Given the description of an element on the screen output the (x, y) to click on. 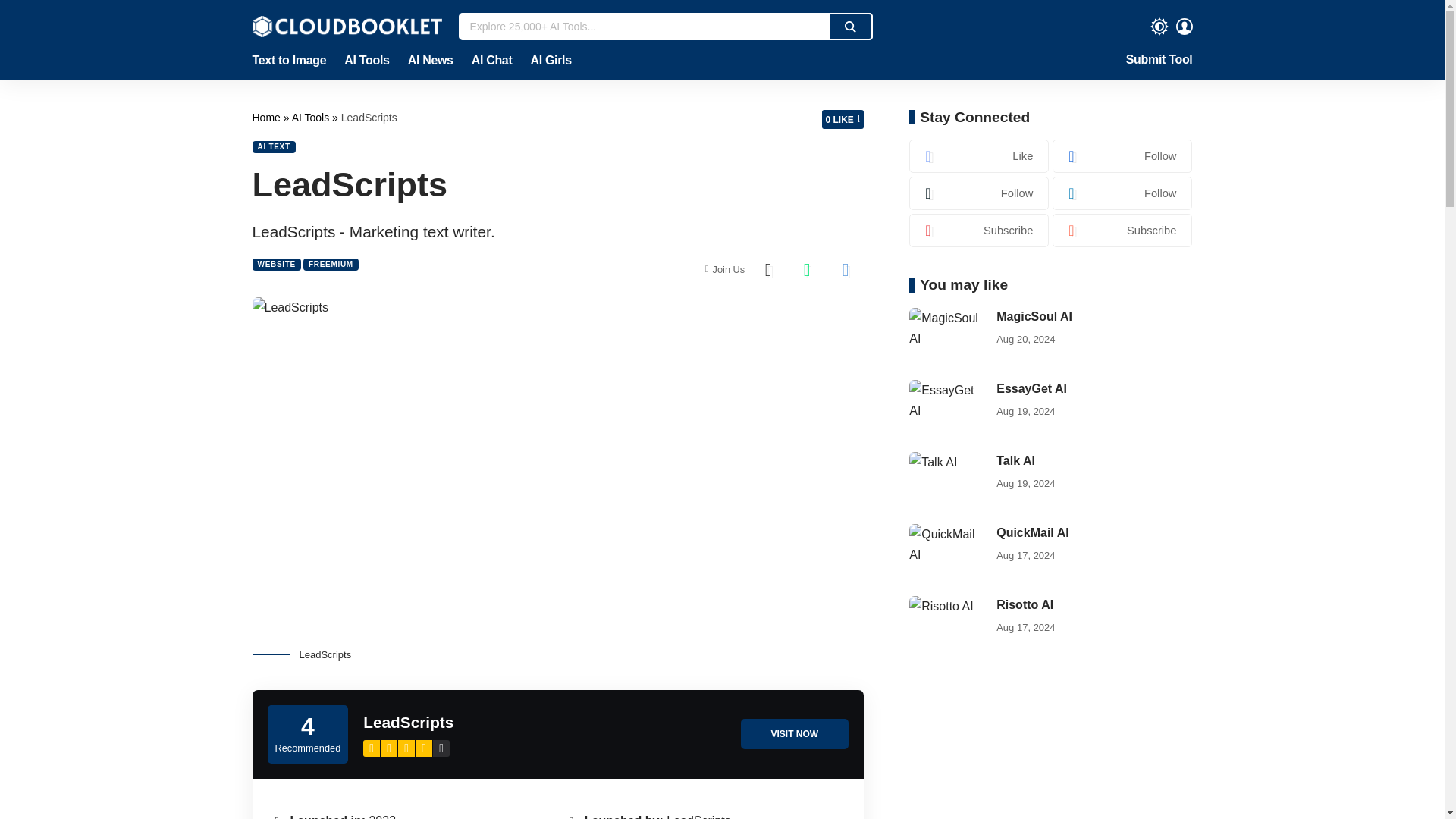
Cloudbooklet AI (266, 117)
Cloudbooklet AI (346, 25)
AI Girls (545, 60)
AI Tools (365, 60)
AI Tools (311, 117)
Home (266, 117)
Submit Tool (1158, 60)
AI Chat (492, 60)
AI Tools (311, 117)
